Given the description of an element on the screen output the (x, y) to click on. 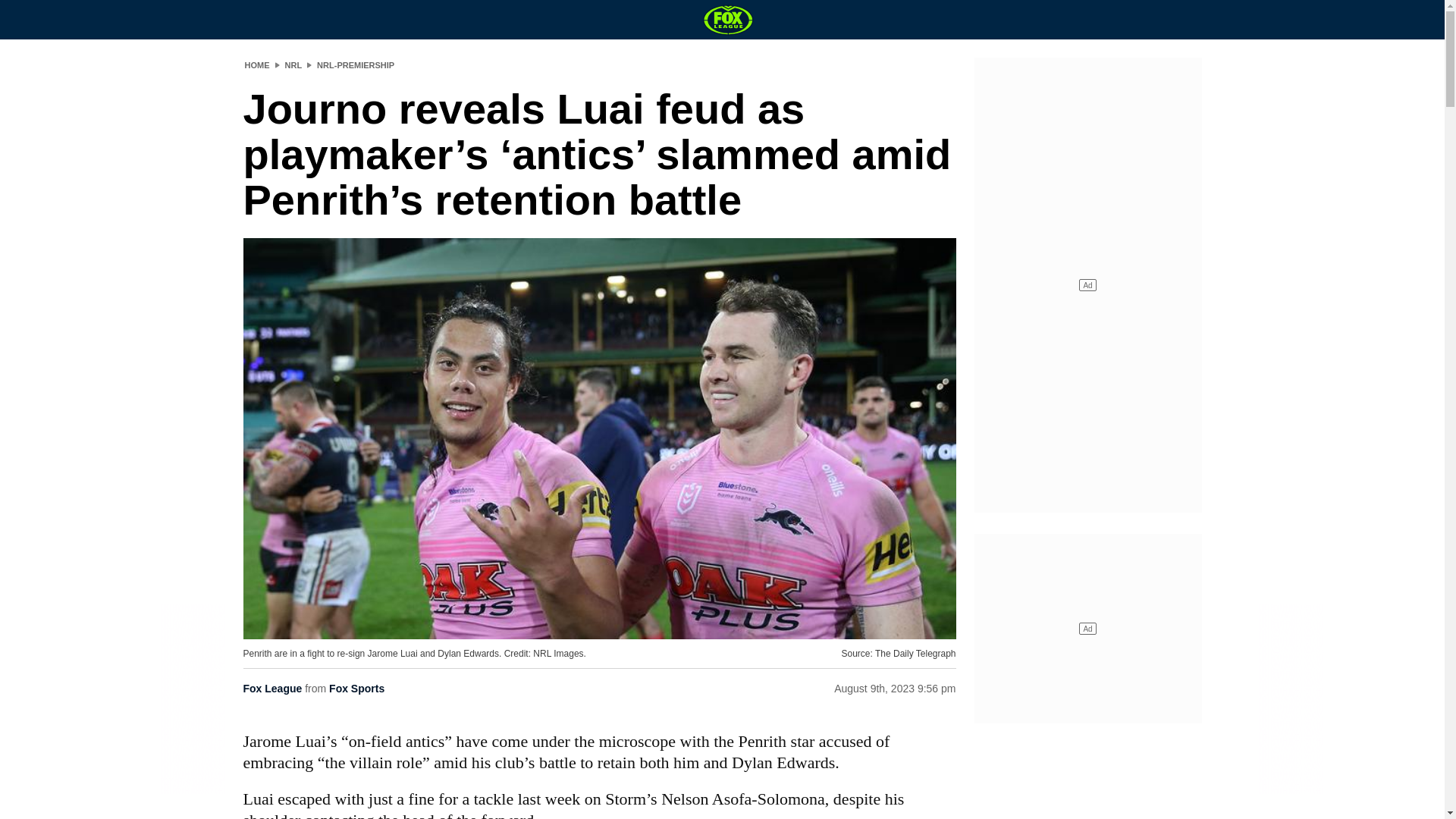
NRL-PREMIERSHIP (355, 64)
NRL (293, 64)
HOME (256, 64)
